Given the description of an element on the screen output the (x, y) to click on. 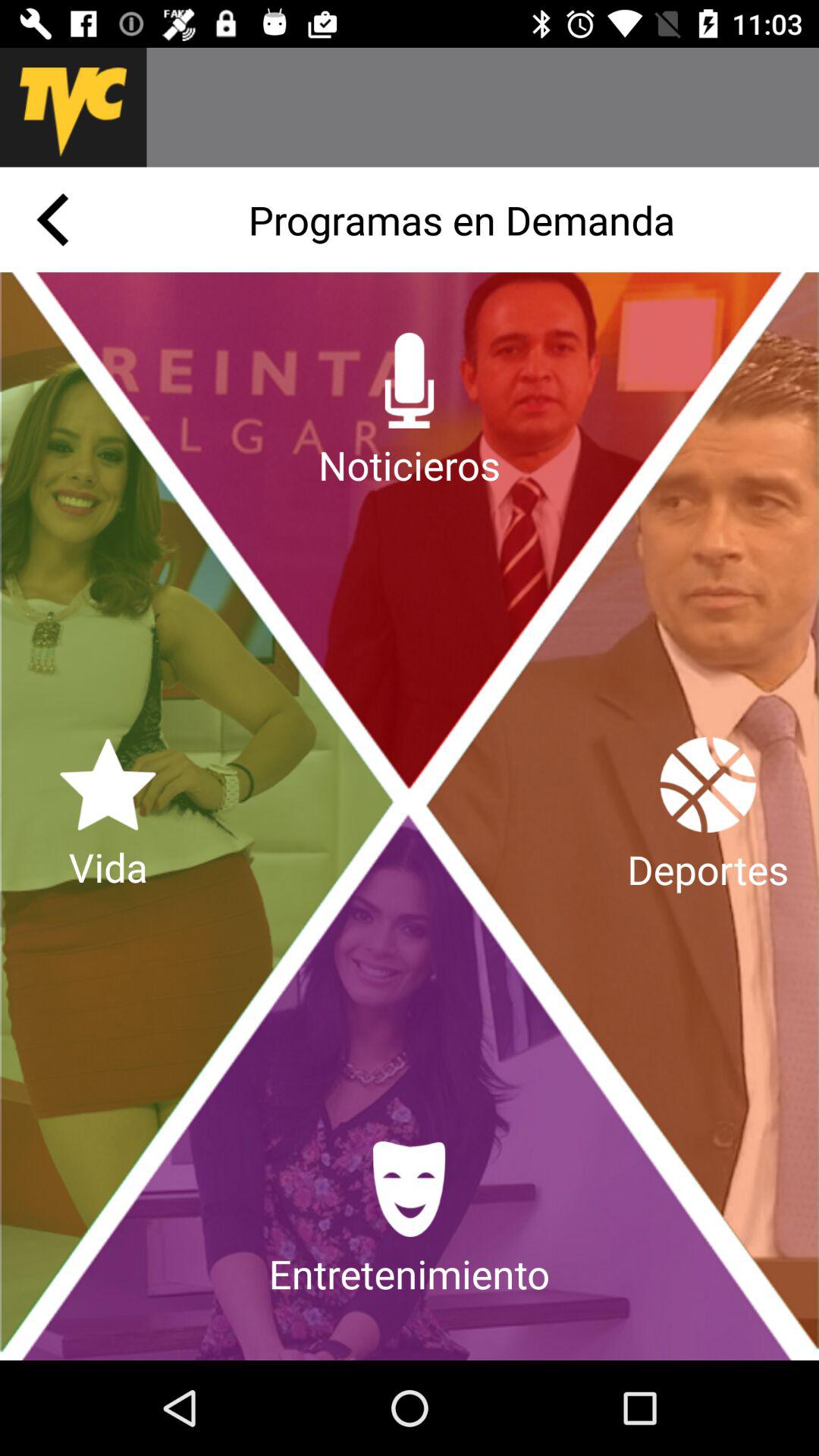
choose the item below programas en demanda item (409, 411)
